Given the description of an element on the screen output the (x, y) to click on. 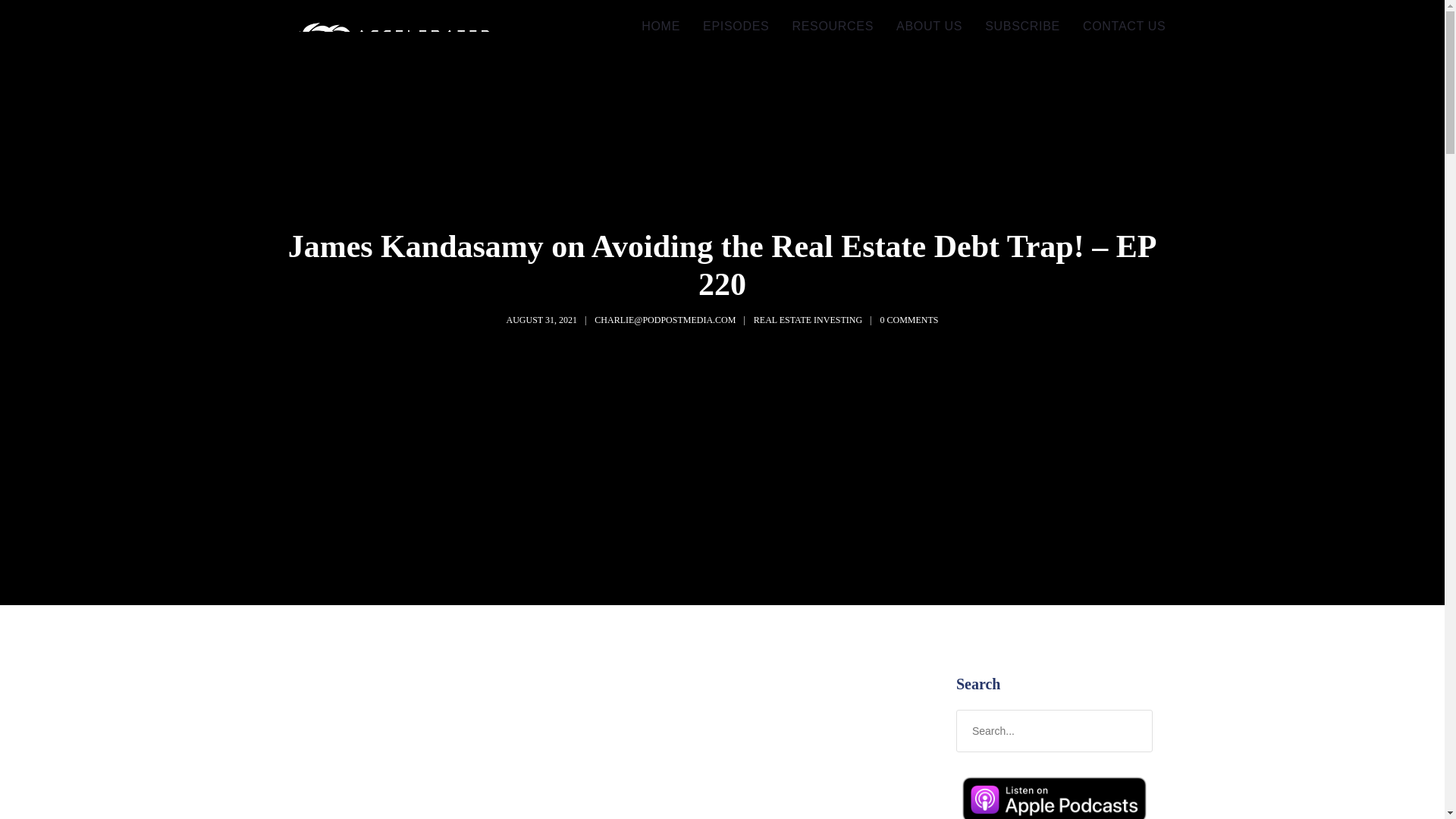
0 COMMENTS (908, 319)
REAL ESTATE INVESTING (807, 319)
SUBSCRIBE (1022, 26)
CONTACT US (1124, 26)
EPISODES (735, 26)
ABOUT US (929, 26)
RESOURCES (832, 26)
Accelerated Investor Podcast (380, 57)
HOME (660, 26)
